Given the description of an element on the screen output the (x, y) to click on. 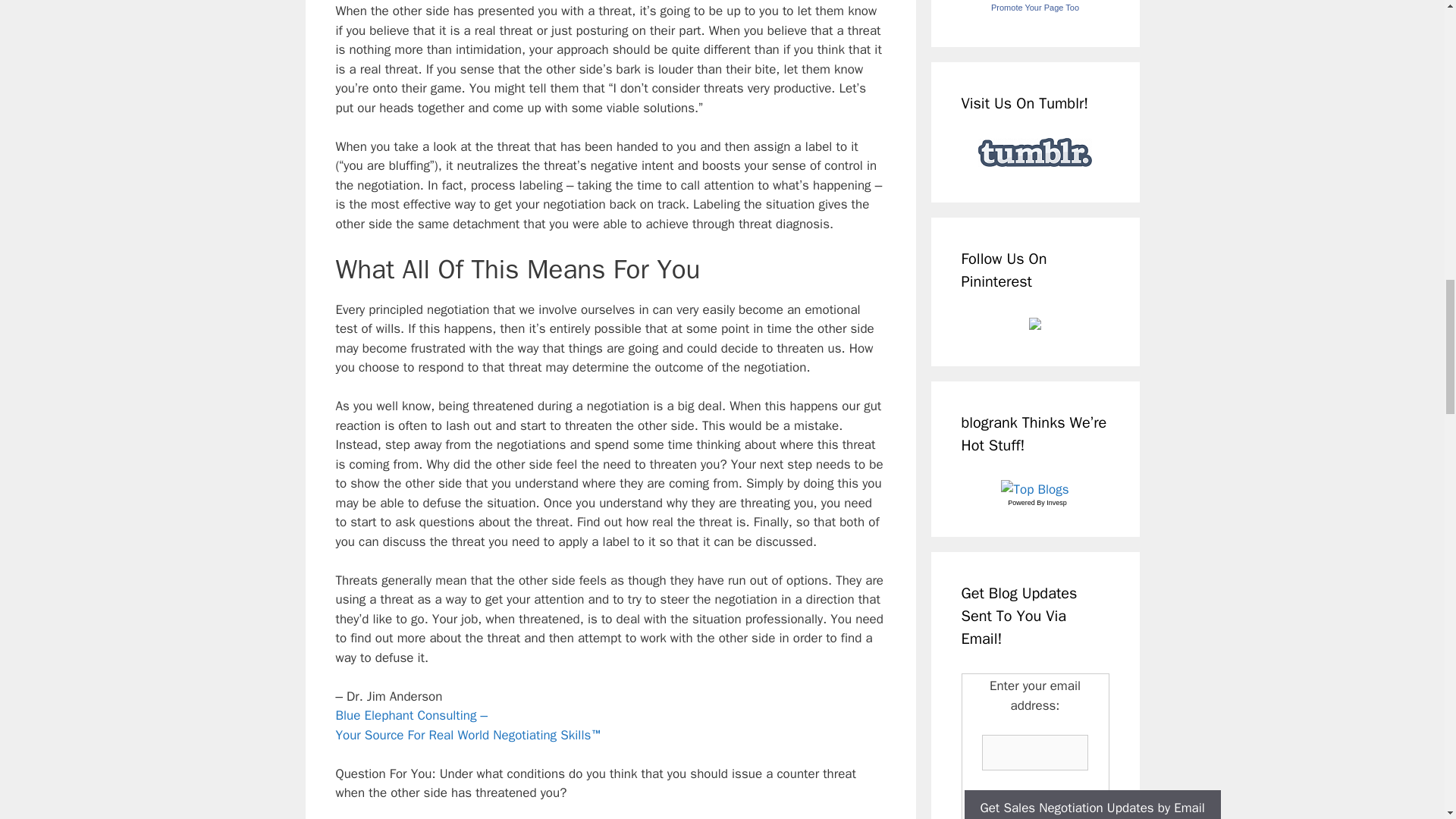
Get Sales Negotiation Updates by Email (1092, 804)
Make your own badge! (1034, 7)
